Given the description of an element on the screen output the (x, y) to click on. 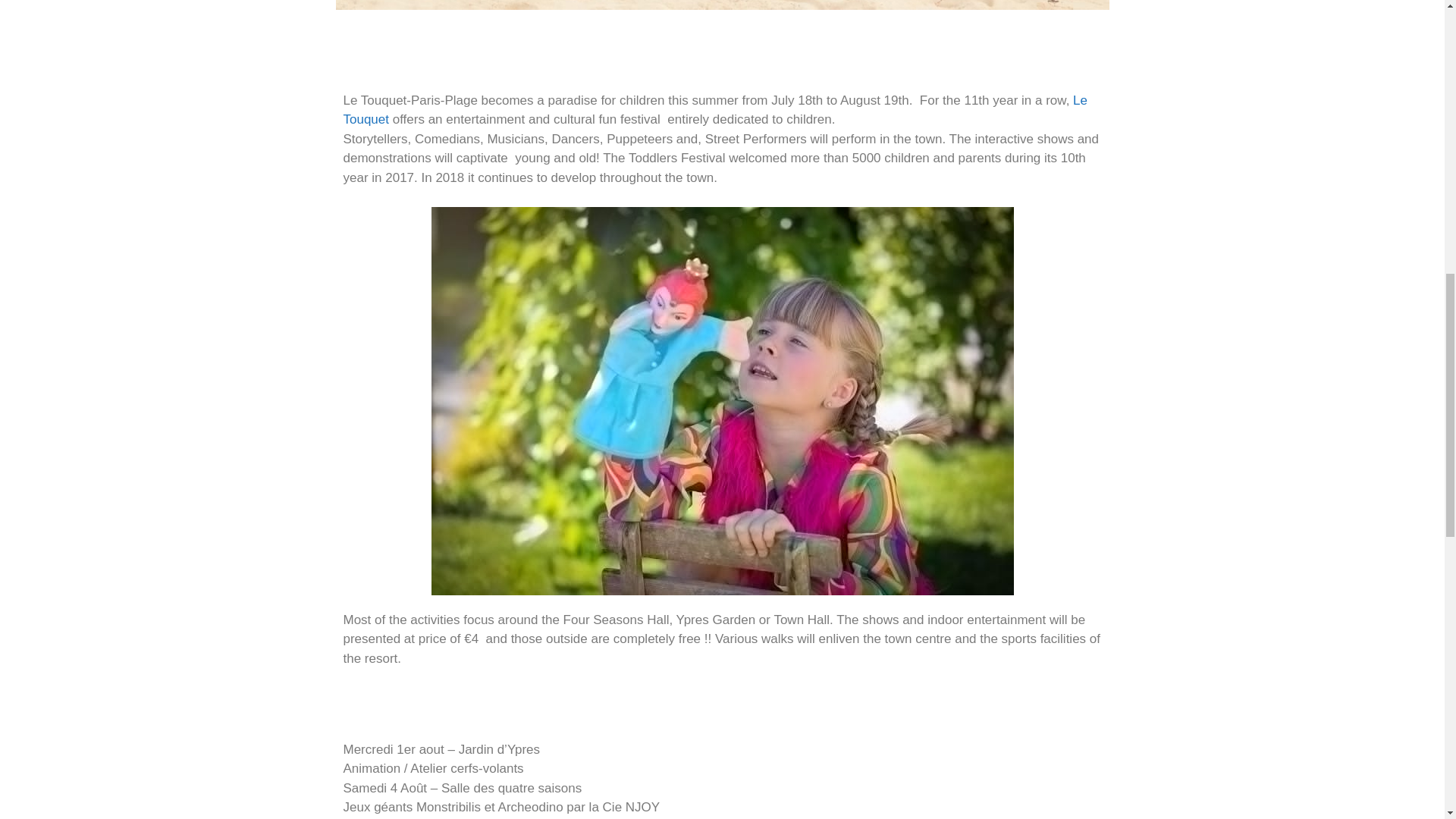
Le Touquet (714, 110)
